Given the description of an element on the screen output the (x, y) to click on. 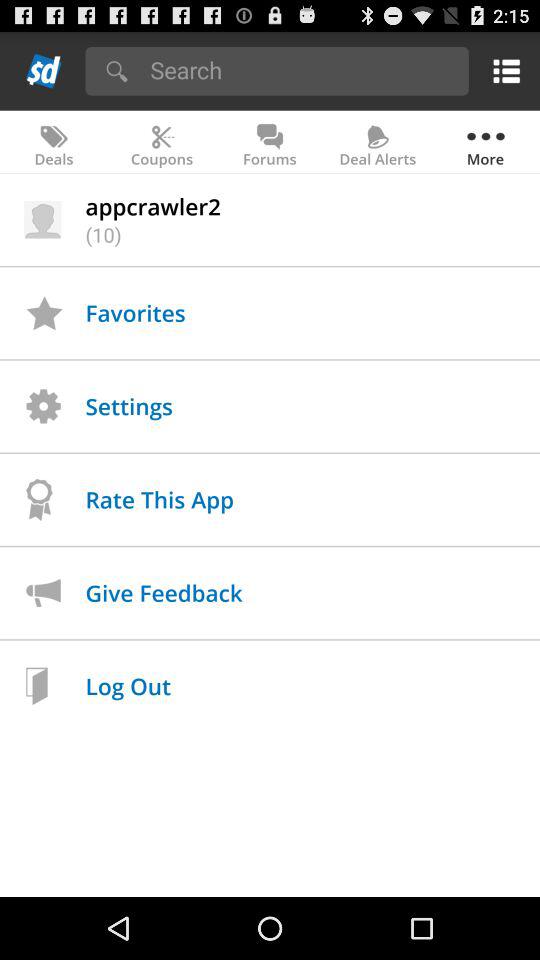
back to home page (44, 70)
